Given the description of an element on the screen output the (x, y) to click on. 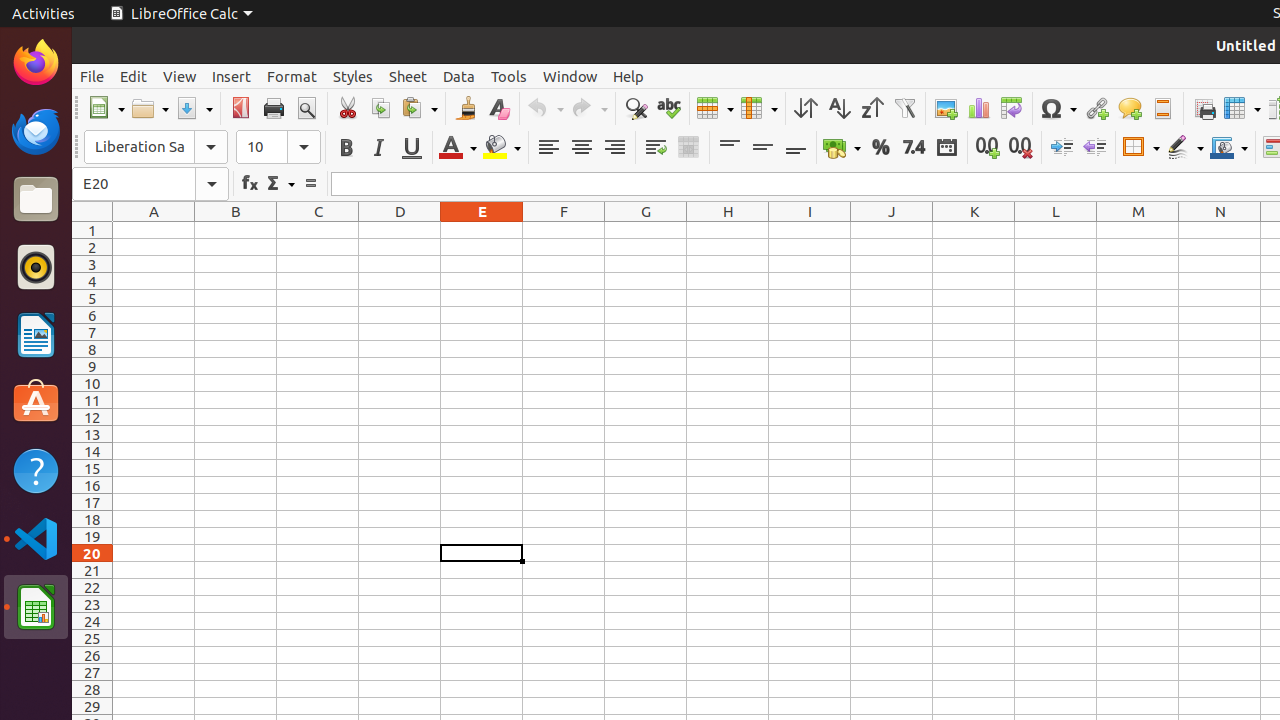
Column Element type: push-button (759, 108)
F1 Element type: table-cell (564, 230)
Merge and Center Cells Element type: push-button (688, 147)
E1 Element type: table-cell (482, 230)
Pivot Table Element type: push-button (1011, 108)
